Given the description of an element on the screen output the (x, y) to click on. 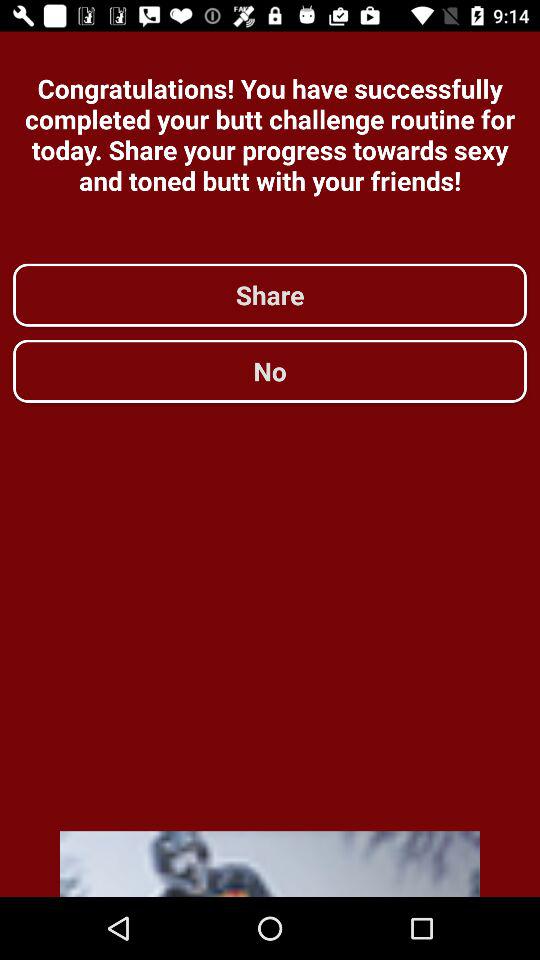
advertisement banner (270, 864)
